Given the description of an element on the screen output the (x, y) to click on. 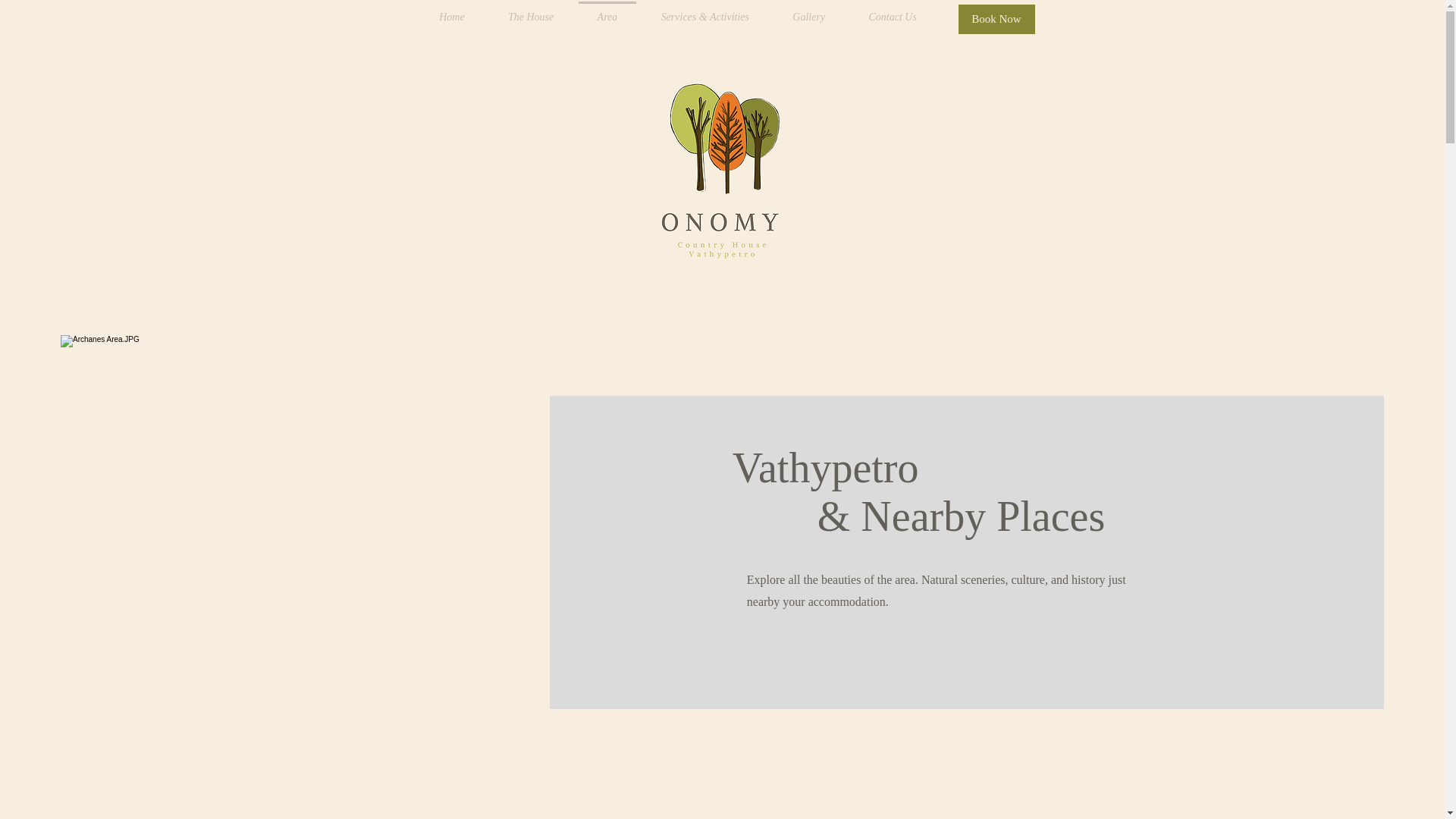
The House (530, 16)
Area (607, 16)
Gallery (809, 16)
Book Now (996, 19)
Contact Us (893, 16)
Home (451, 16)
